Given the description of an element on the screen output the (x, y) to click on. 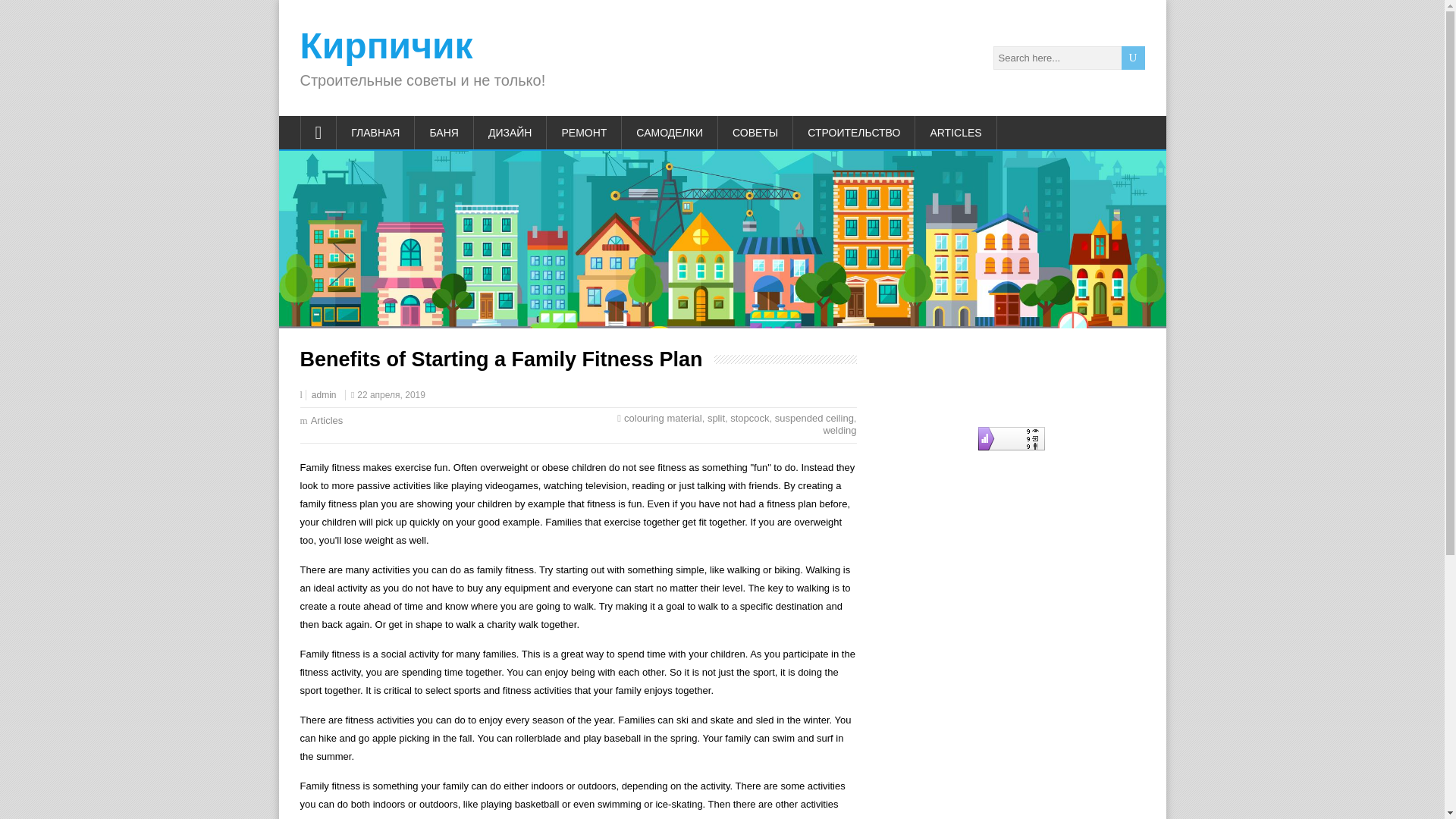
colouring material (662, 418)
suspended ceiling (813, 418)
welding (839, 430)
stopcock (749, 418)
ARTICLES (955, 132)
U (1132, 57)
U (1132, 57)
admin (323, 394)
Articles (327, 419)
split (716, 418)
U (1132, 57)
